Given the description of an element on the screen output the (x, y) to click on. 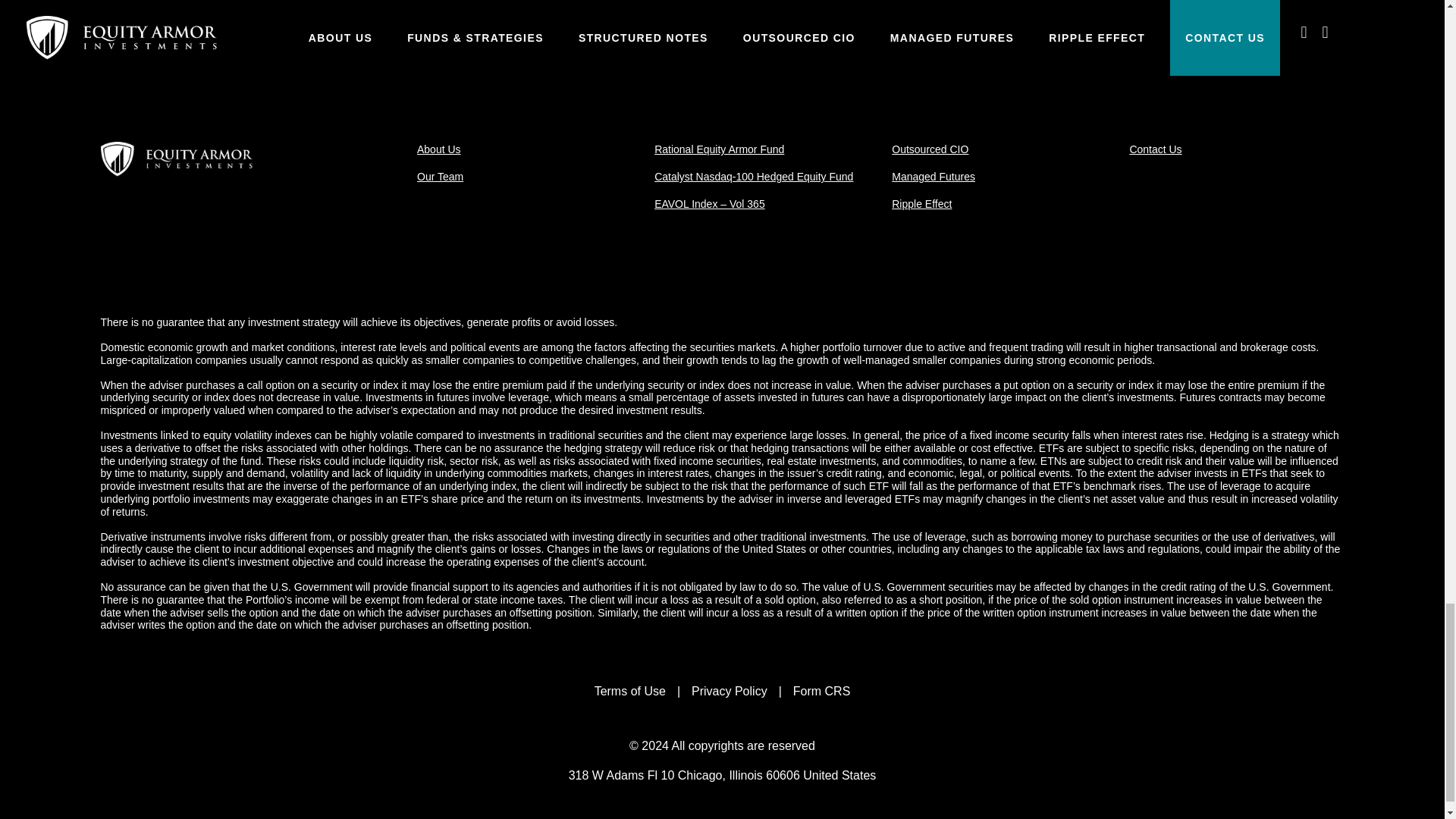
Rational Equity Armor Fund (718, 149)
Catalyst Nasdaq-100 Hedged Equity Fund (753, 176)
Our Team (439, 176)
About Us (438, 149)
Rational Equity Armor Fund (718, 149)
About Us (438, 149)
Catalyst Nasdaq-100 Hedged Equity Fund (753, 176)
Our Team (439, 176)
